Given the description of an element on the screen output the (x, y) to click on. 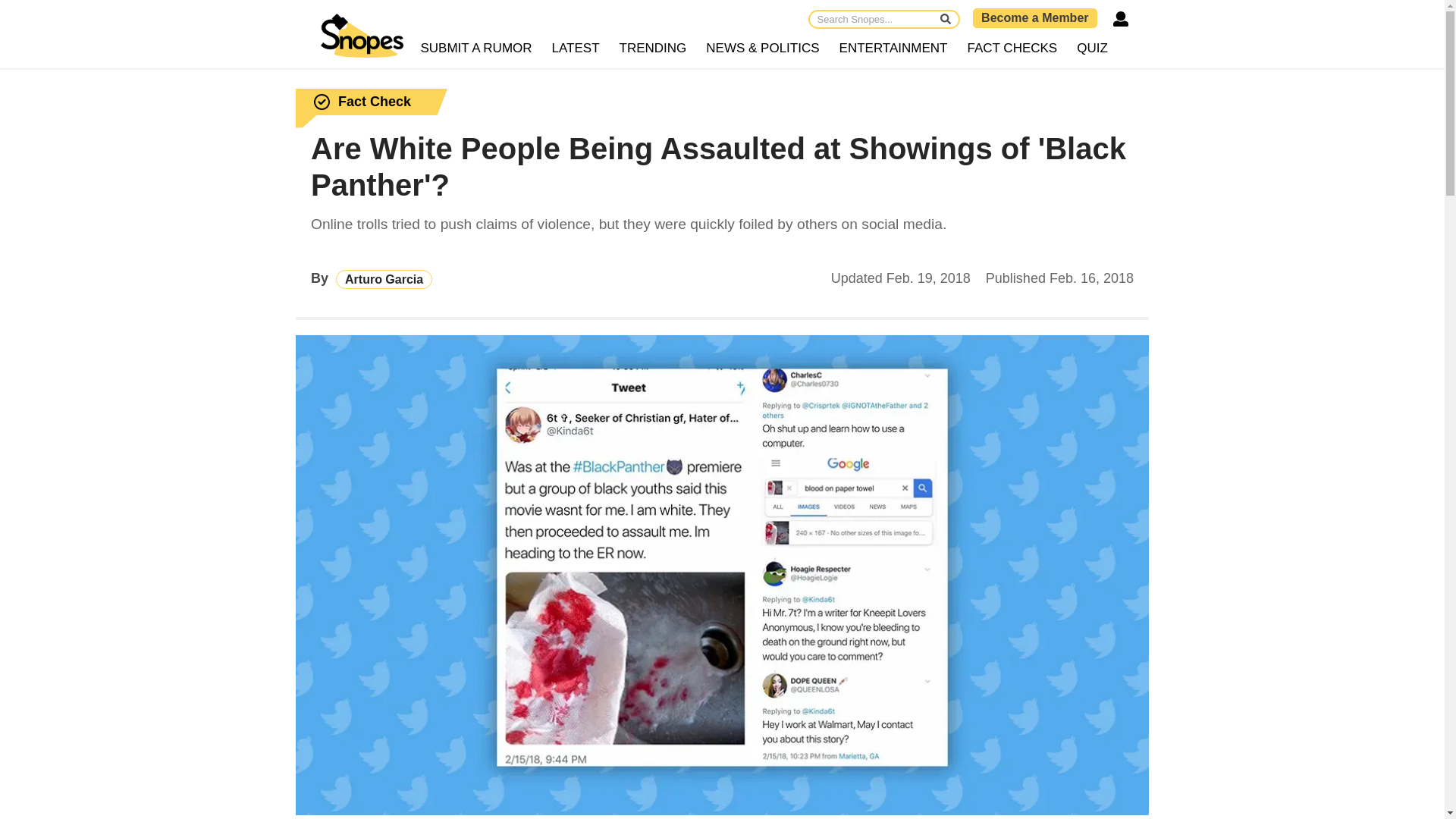
SUBMIT A RUMOR (475, 47)
TRENDING (653, 47)
LATEST (576, 47)
ENTERTAINMENT (893, 47)
FACT CHECKS (1011, 47)
Become a Member (1034, 17)
QUIZ (1092, 47)
Arturo Garcia (384, 279)
